Given the description of an element on the screen output the (x, y) to click on. 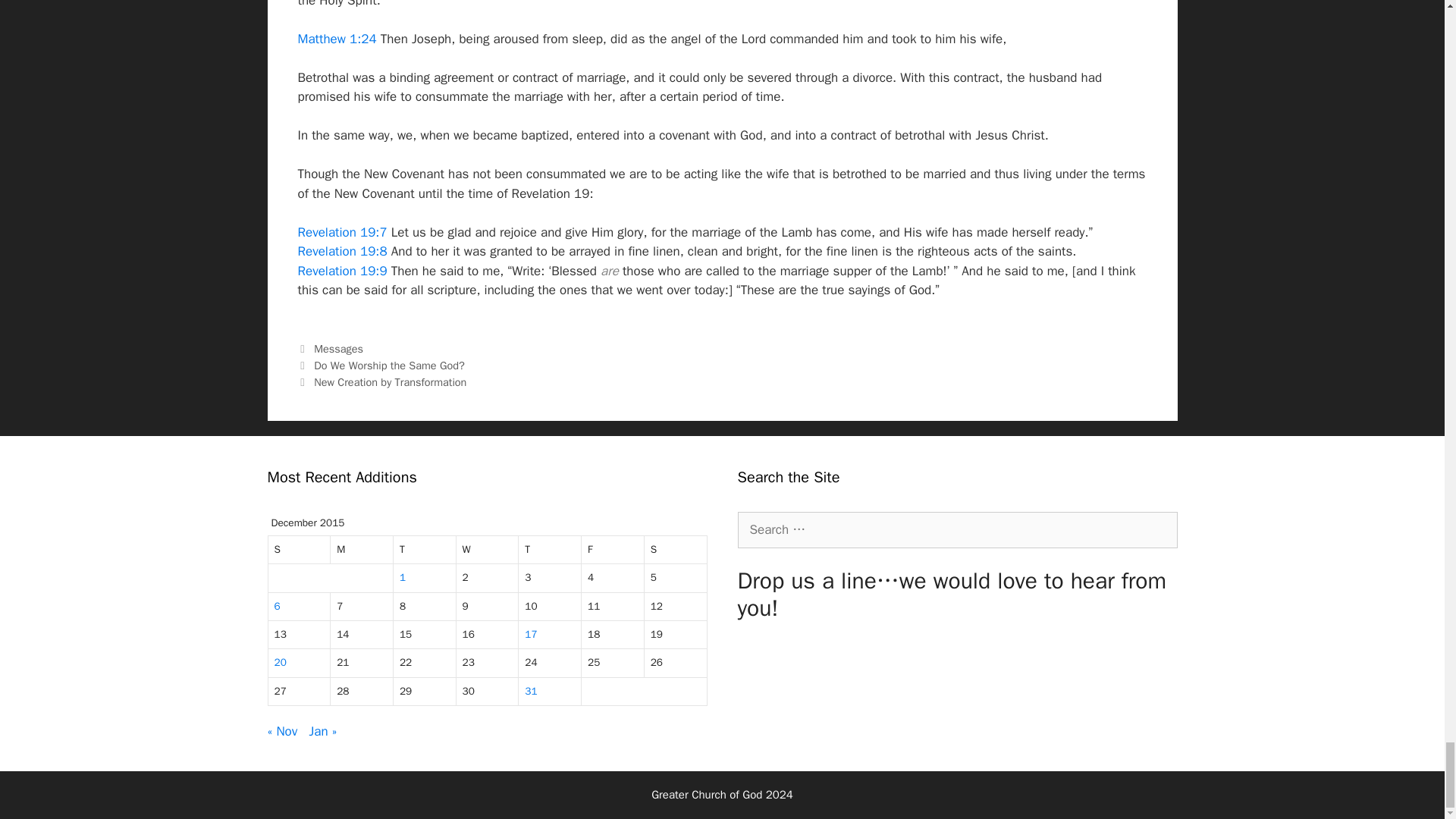
Thursday (549, 550)
Friday (612, 550)
Previous (380, 365)
Wednesday (488, 550)
Monday (361, 550)
Sunday (299, 550)
Next (381, 382)
Tuesday (425, 550)
Saturday (676, 550)
